Given the description of an element on the screen output the (x, y) to click on. 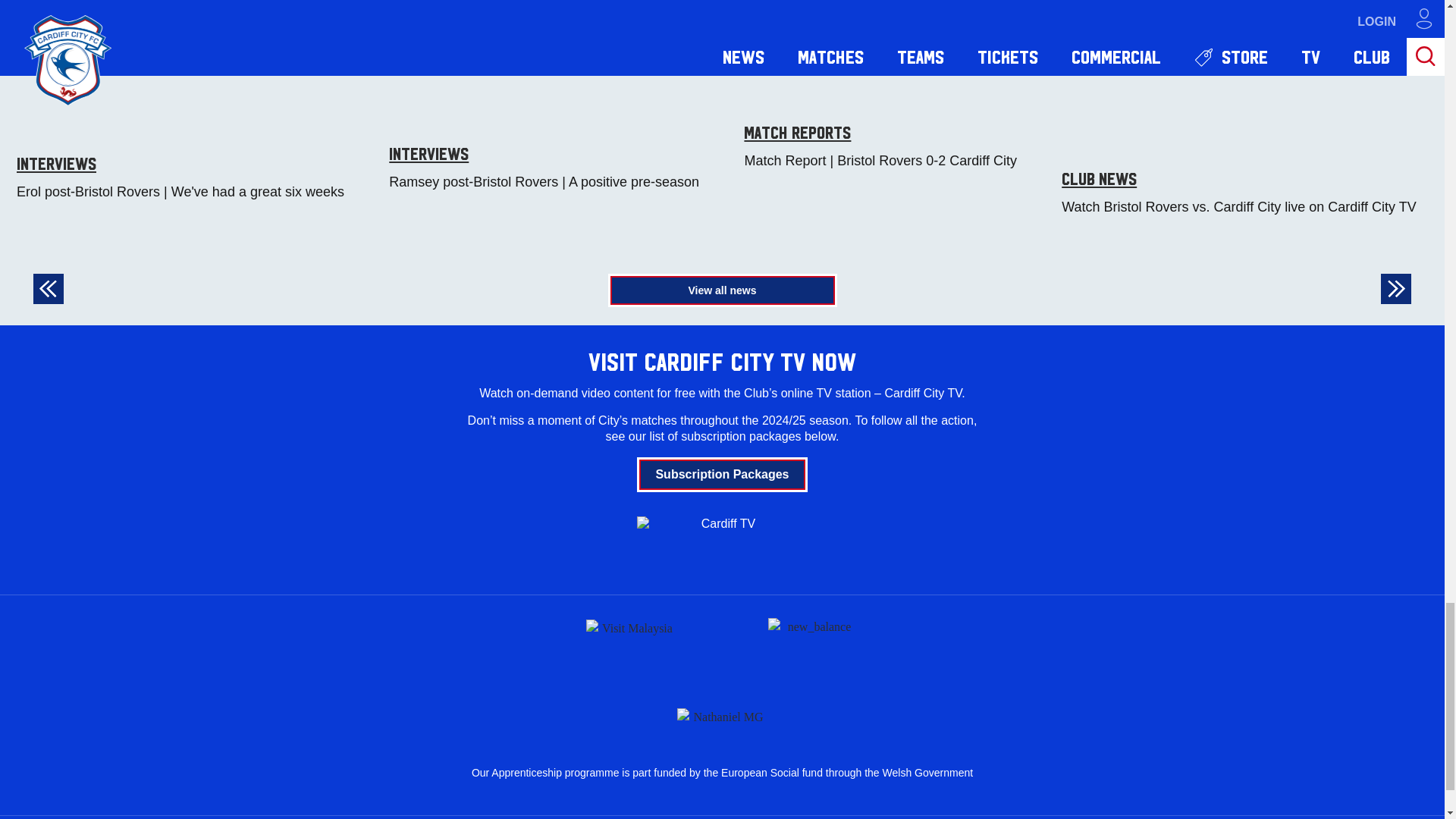
Visit Malaysia (631, 645)
New Balance (813, 645)
Nathaniel Cars (722, 714)
